Given the description of an element on the screen output the (x, y) to click on. 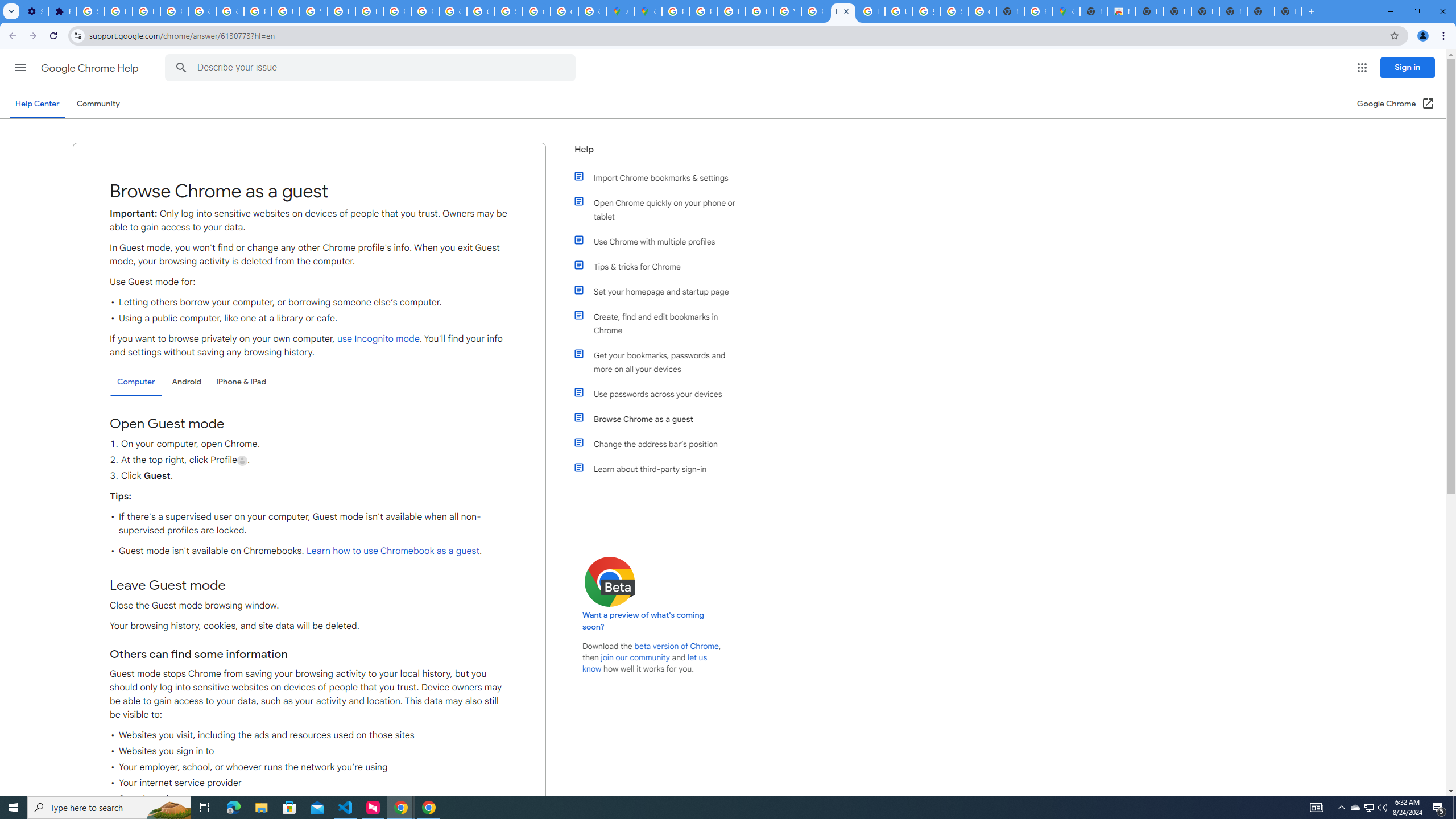
let us know (644, 663)
Google Maps (647, 11)
Import Chrome bookmarks & settings (661, 177)
Sign in - Google Accounts (955, 11)
Search Help Center (181, 67)
Privacy Help Center - Policies Help (731, 11)
Tips & tricks for Chrome (661, 266)
